Given the description of an element on the screen output the (x, y) to click on. 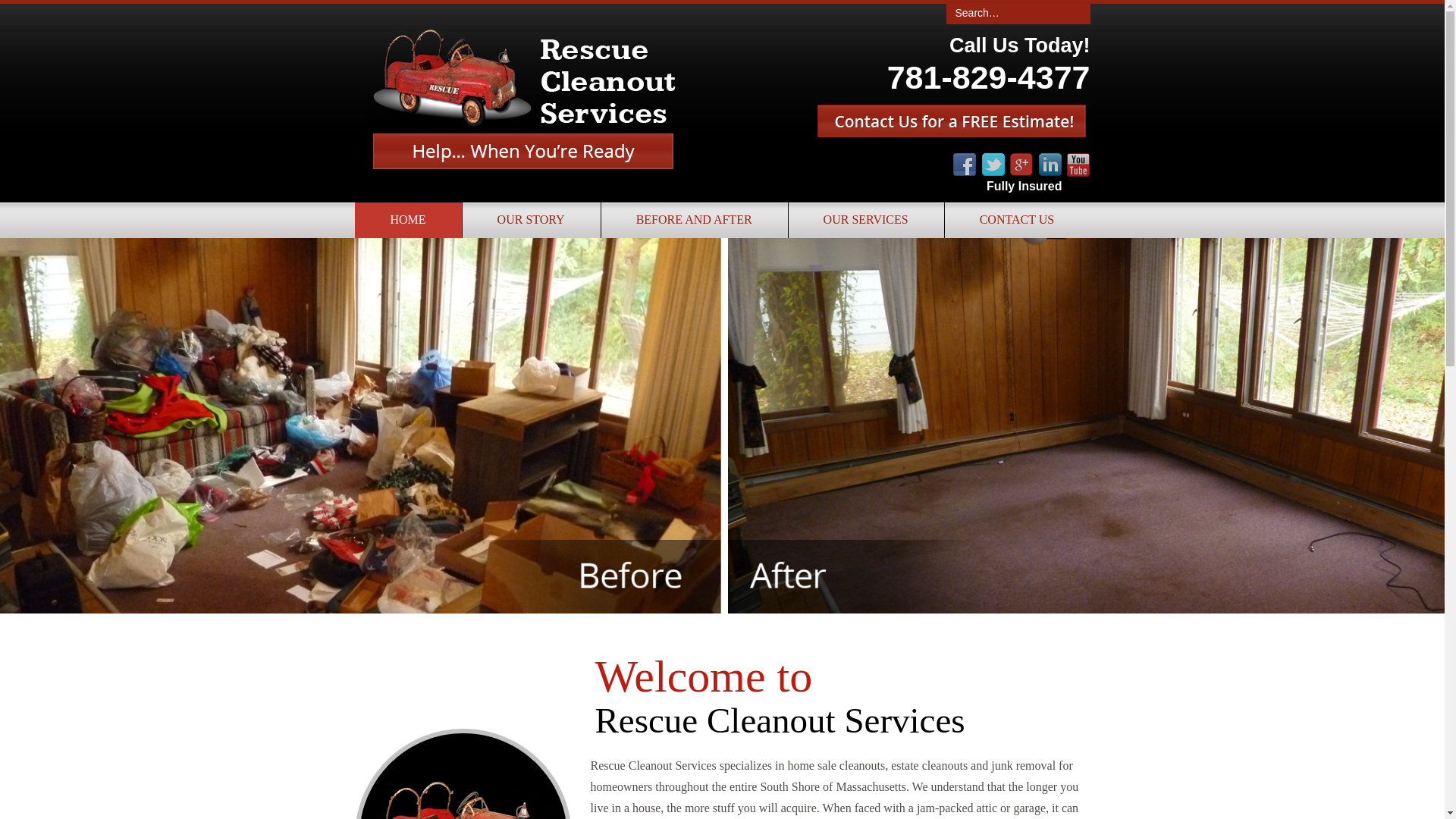
LinkedIn (1050, 164)
OUR STORY (530, 220)
Facebook (964, 164)
OUR SERVICES (865, 220)
Twitter (992, 164)
YouTube (1078, 164)
CONTACT US (1016, 220)
BEFORE AND AFTER (693, 220)
HOME (408, 220)
Google Plus (1021, 164)
